Given the description of an element on the screen output the (x, y) to click on. 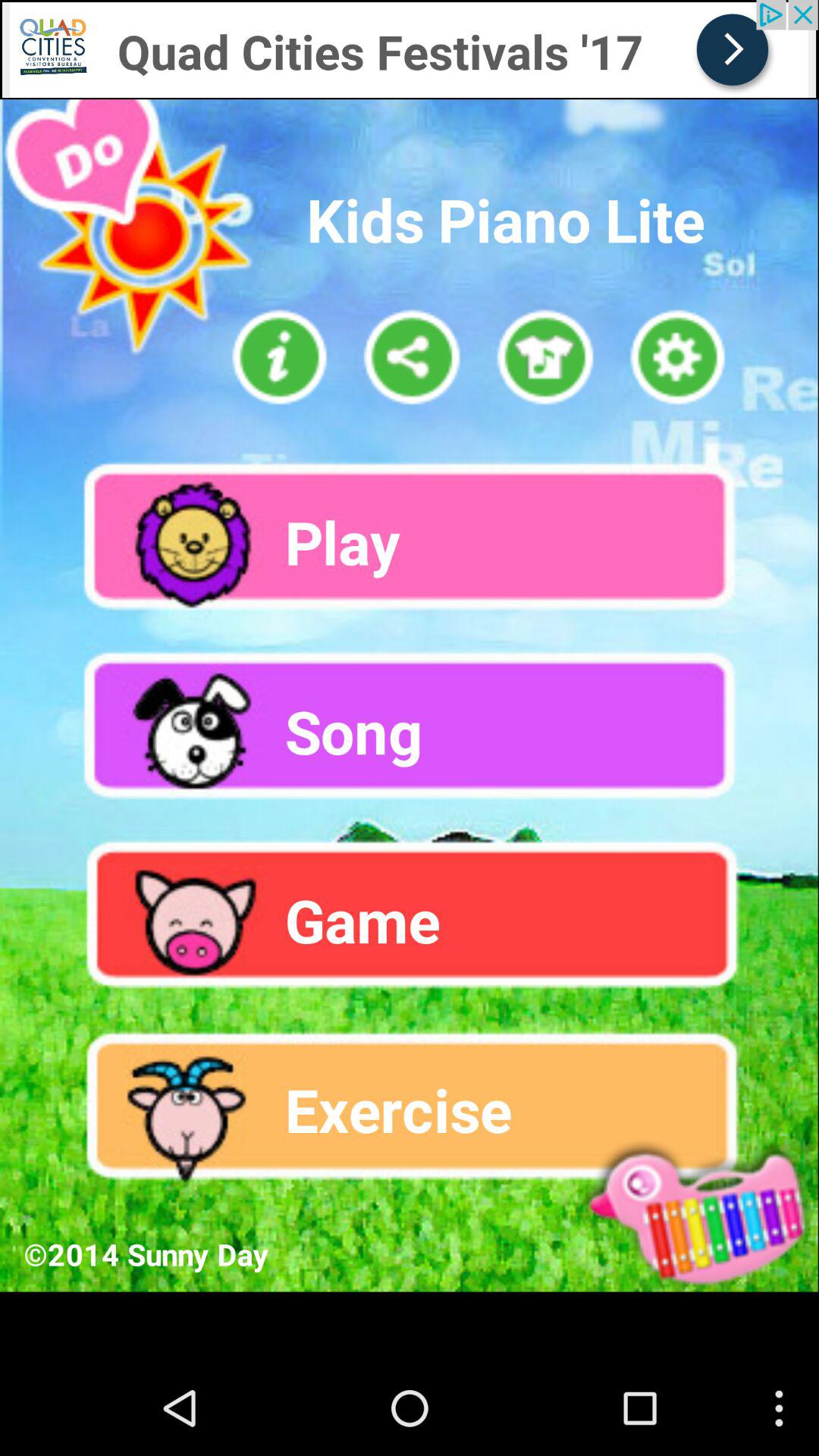
advertisement (116, 14)
